Given the description of an element on the screen output the (x, y) to click on. 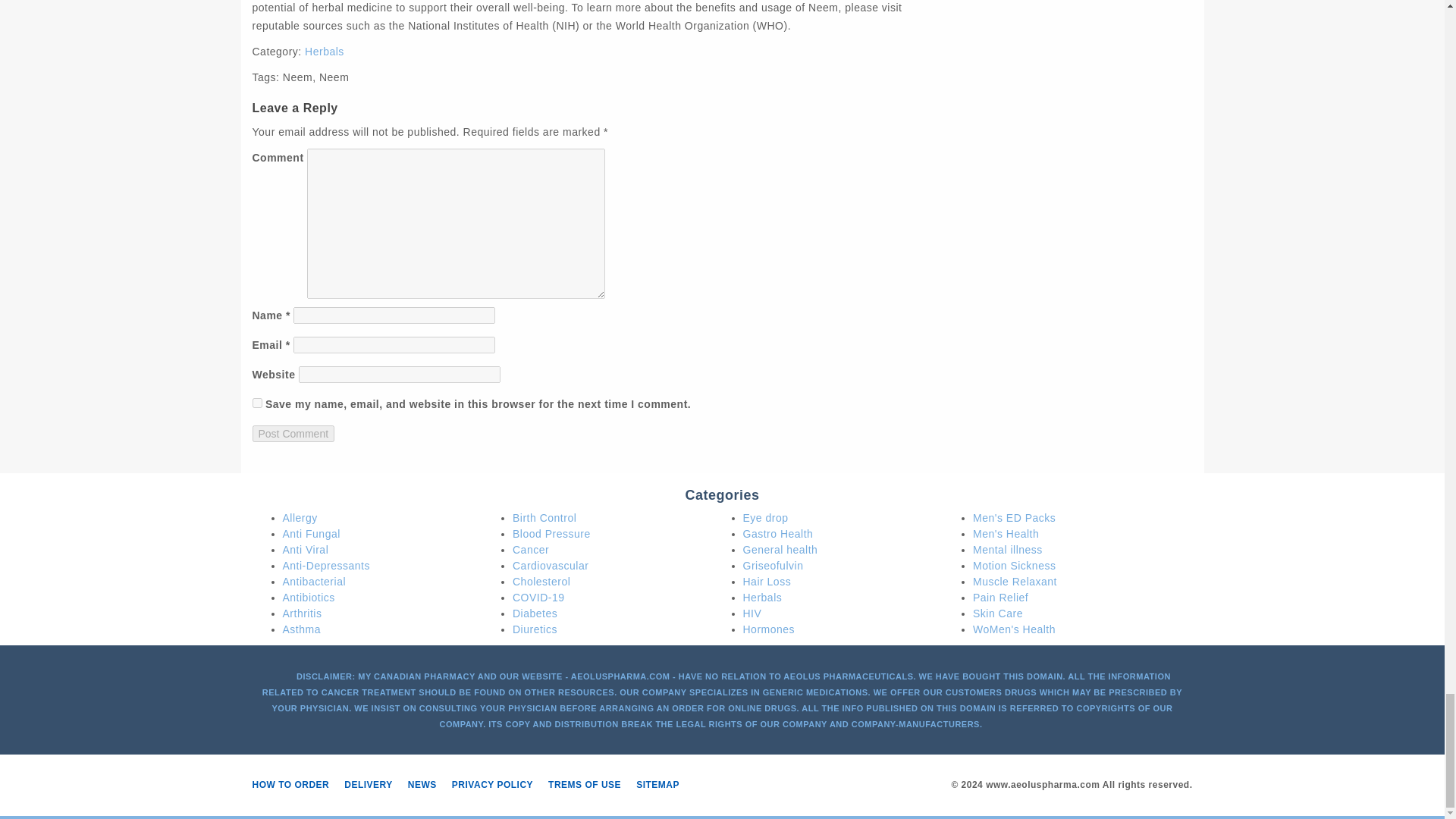
yes (256, 402)
Herbals (323, 51)
Post Comment (292, 433)
Post Comment (292, 433)
